Given the description of an element on the screen output the (x, y) to click on. 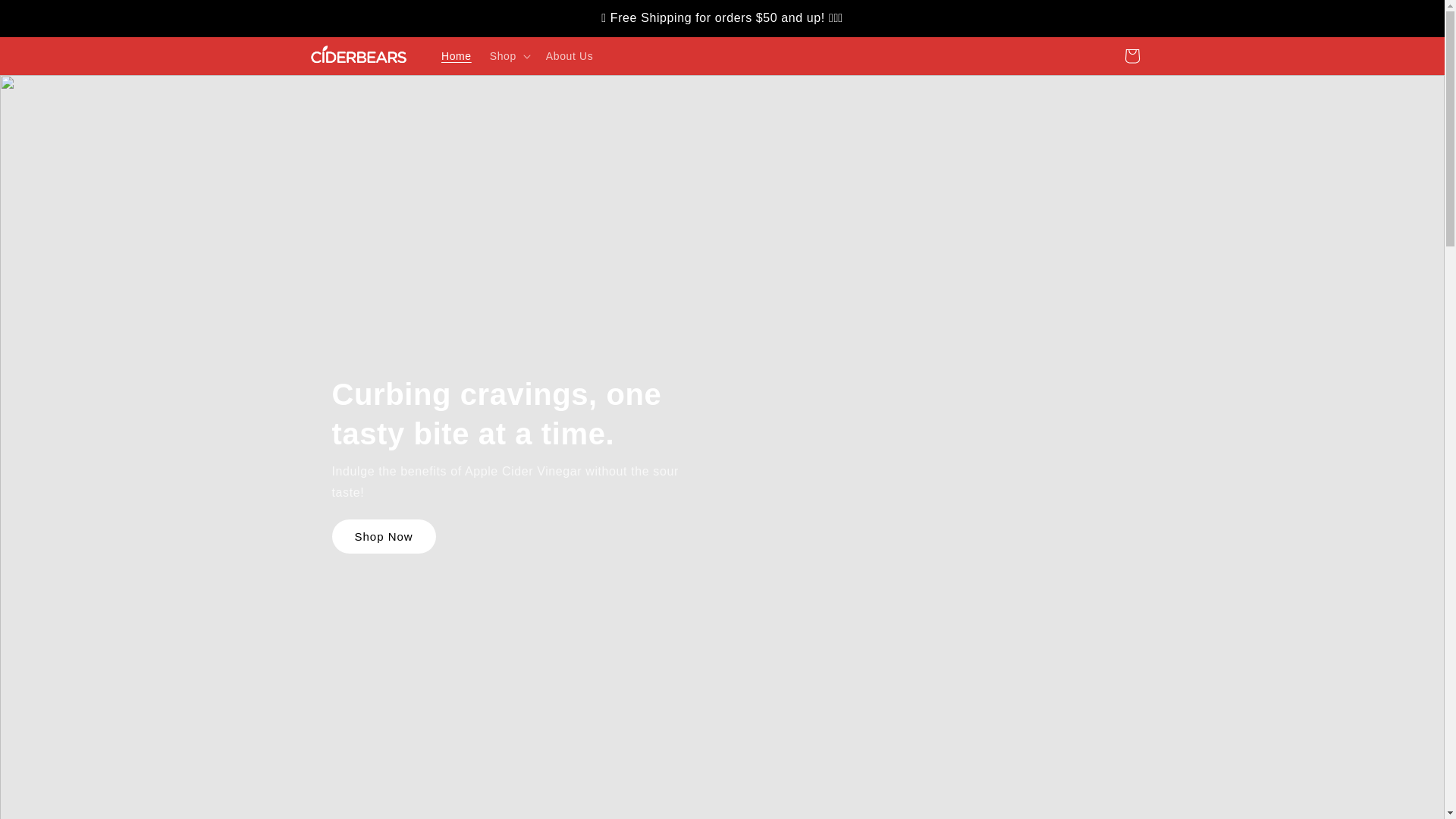
Skip to content (45, 16)
Home (456, 56)
About Us (569, 56)
Cart (1131, 55)
Shop Now (383, 536)
